Given the description of an element on the screen output the (x, y) to click on. 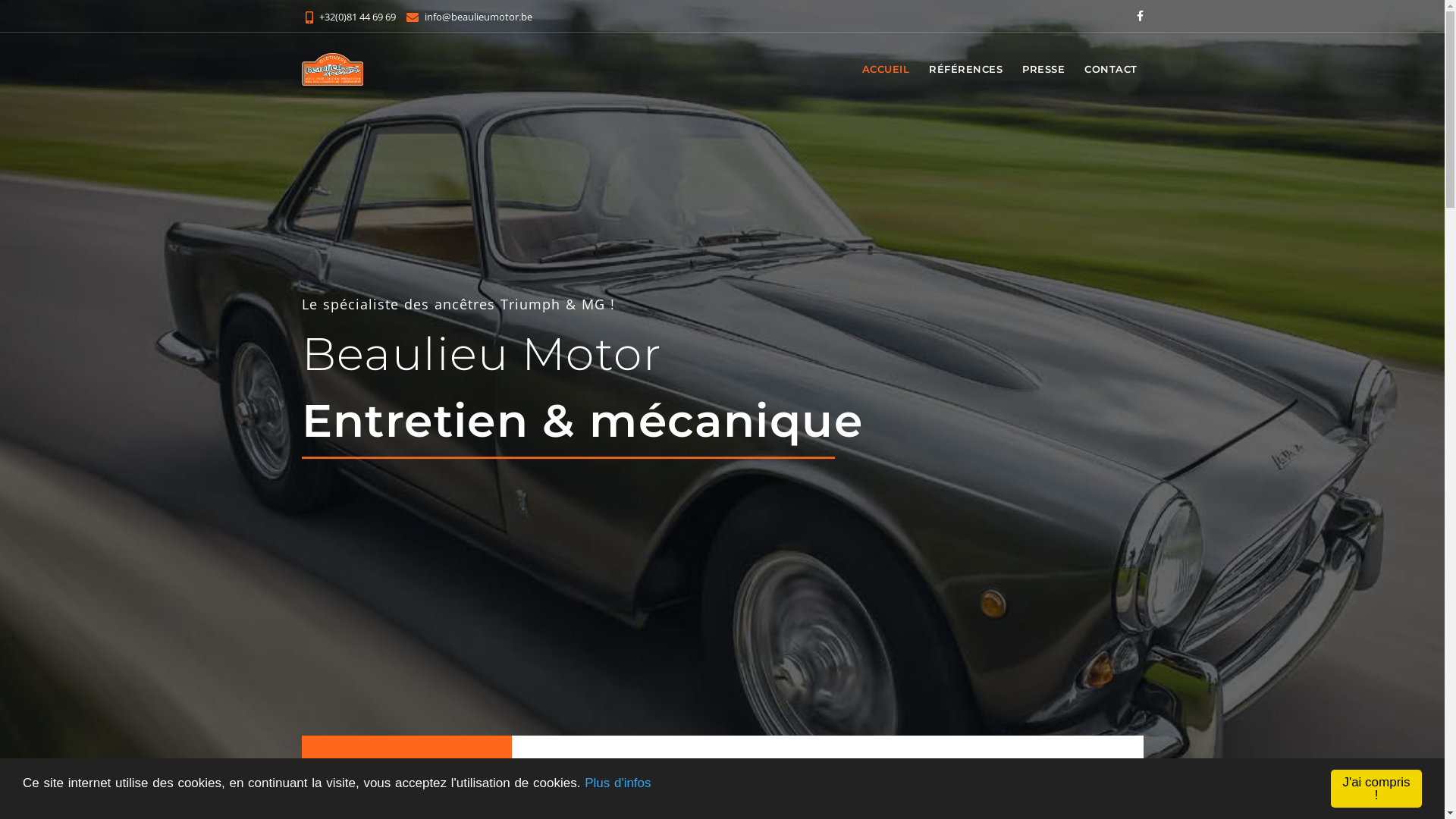
CONTACT Element type: text (1110, 68)
Plus d'infos Element type: text (617, 782)
PRESSE Element type: text (1043, 68)
ACCUEIL Element type: text (885, 68)
J'ai compris ! Element type: text (1375, 788)
